Given the description of an element on the screen output the (x, y) to click on. 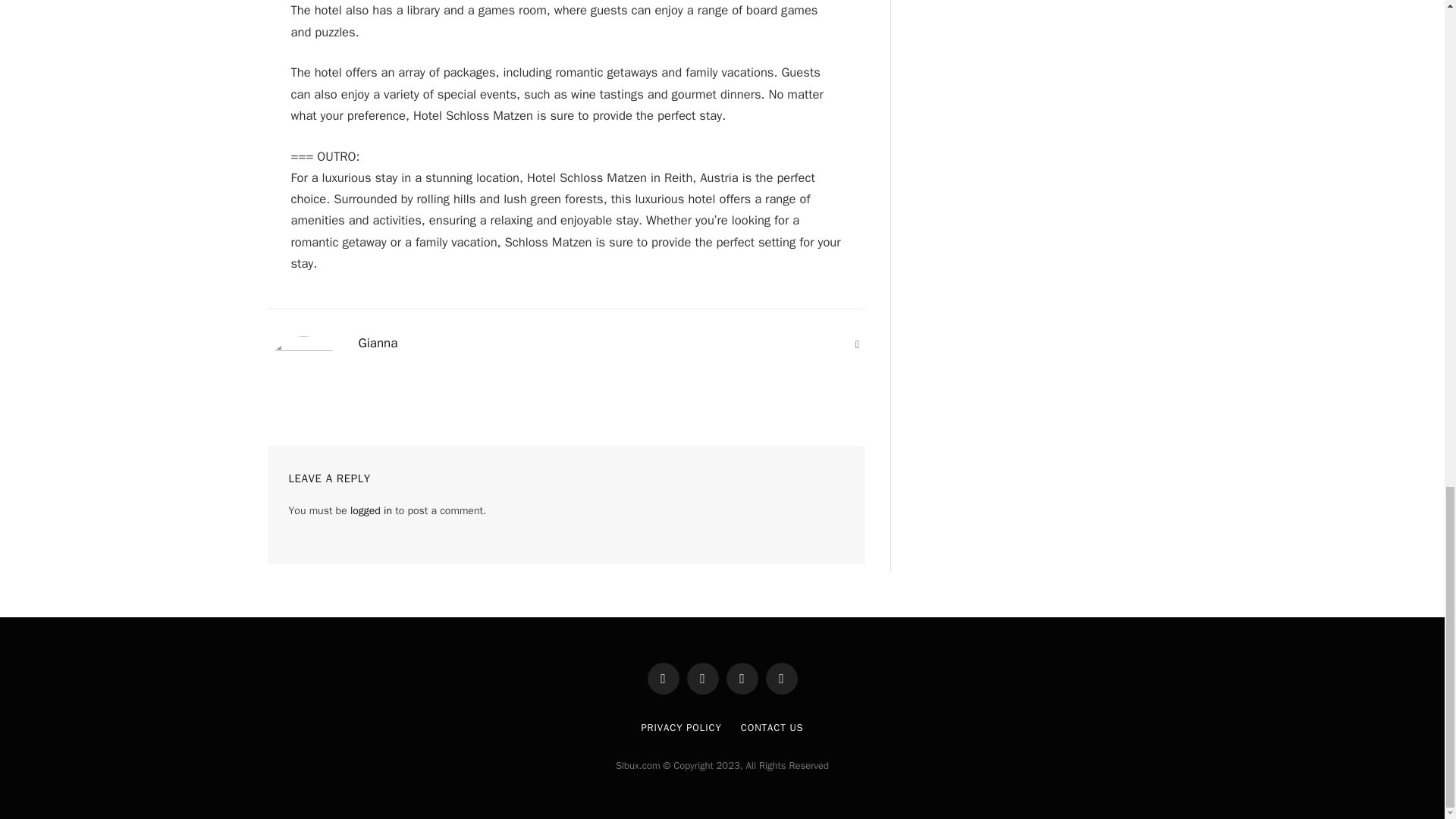
Website (856, 344)
Posts by Gianna (377, 343)
Instagram (742, 678)
PRIVACY POLICY (680, 727)
CONTACT US (772, 727)
Pinterest (781, 678)
Gianna (377, 343)
logged in (370, 510)
Facebook (663, 678)
Website (856, 344)
